Given the description of an element on the screen output the (x, y) to click on. 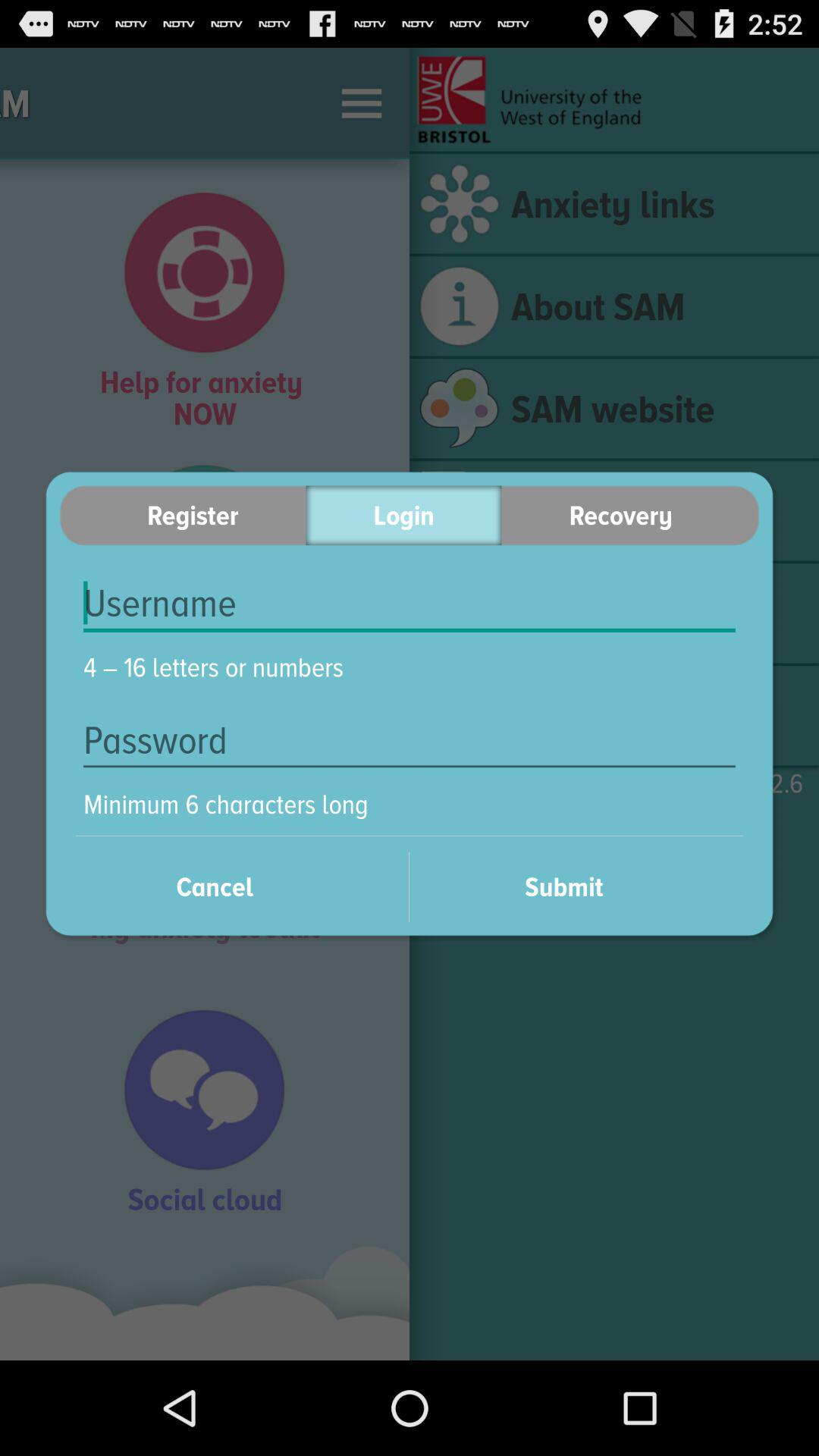
choose icon next to the login (630, 515)
